Given the description of an element on the screen output the (x, y) to click on. 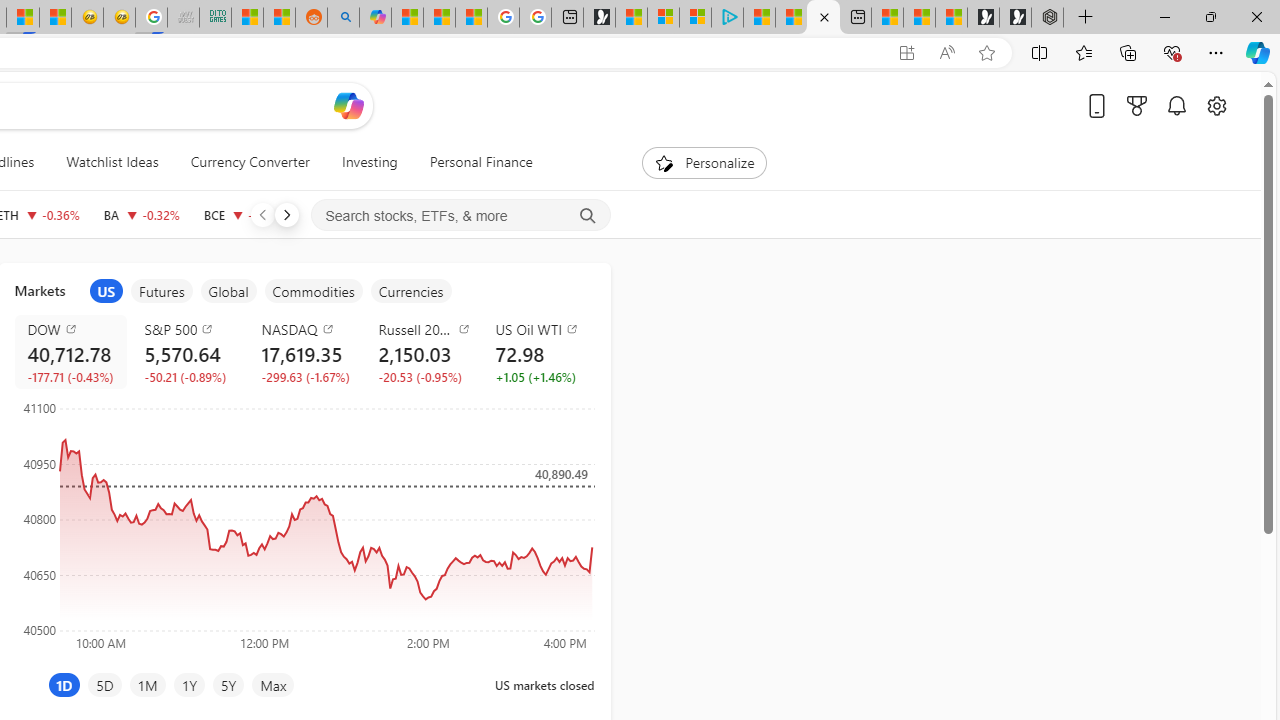
DITOGAMES AG Imprint (215, 17)
1M (147, 684)
Search stocks, ETFs, & more (461, 215)
Currency Converter (249, 162)
DOW (73, 328)
Open Copilot (347, 105)
Microsoft Start (791, 17)
Collections (1128, 52)
item2 (161, 291)
Browser essentials (1171, 52)
